Given the description of an element on the screen output the (x, y) to click on. 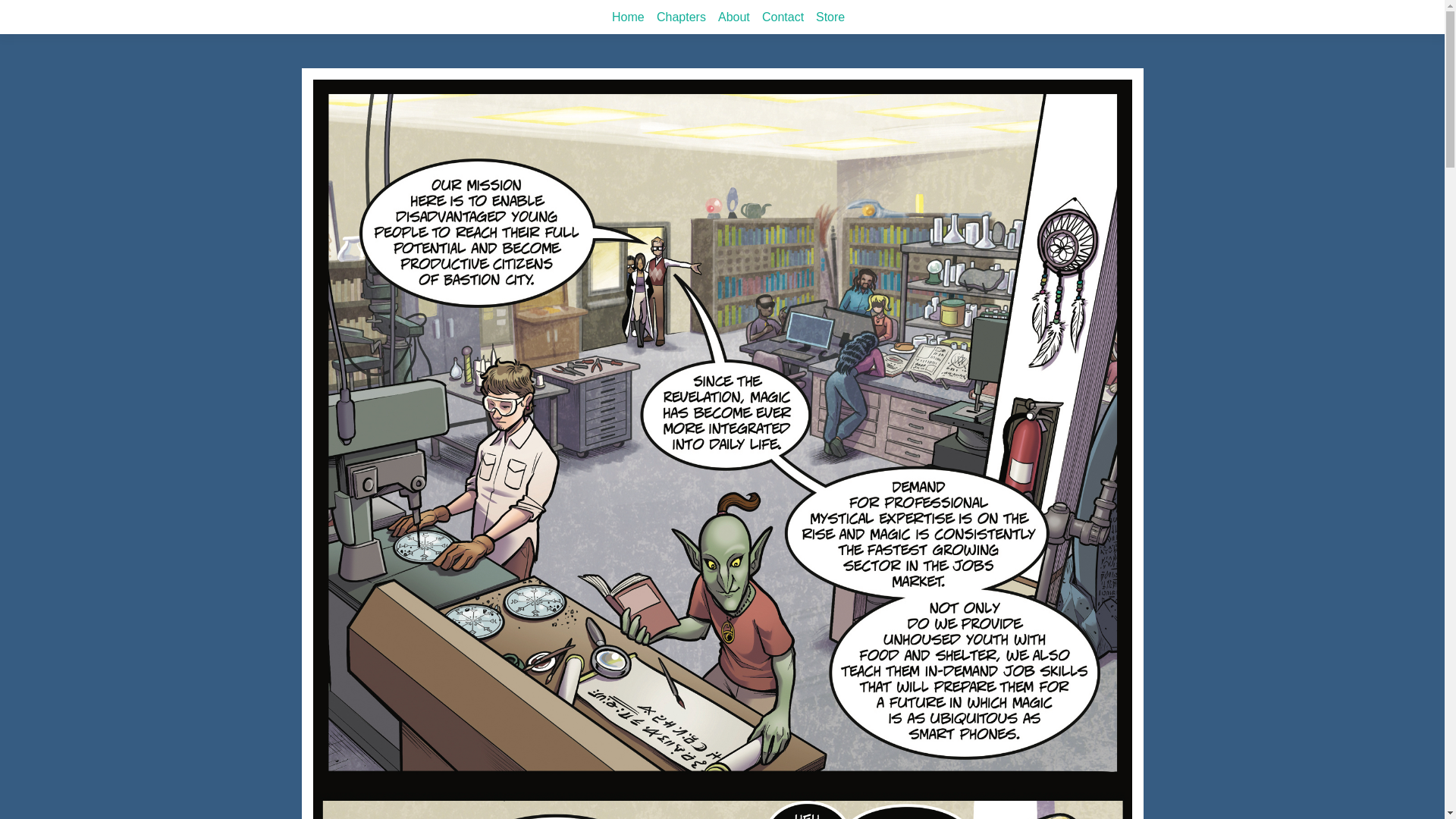
Home (627, 16)
Store (829, 16)
Chapters (680, 16)
Contact (782, 16)
Home (627, 16)
Contact (782, 16)
Store (829, 16)
About (733, 16)
About (733, 16)
Chapters (680, 16)
